Given the description of an element on the screen output the (x, y) to click on. 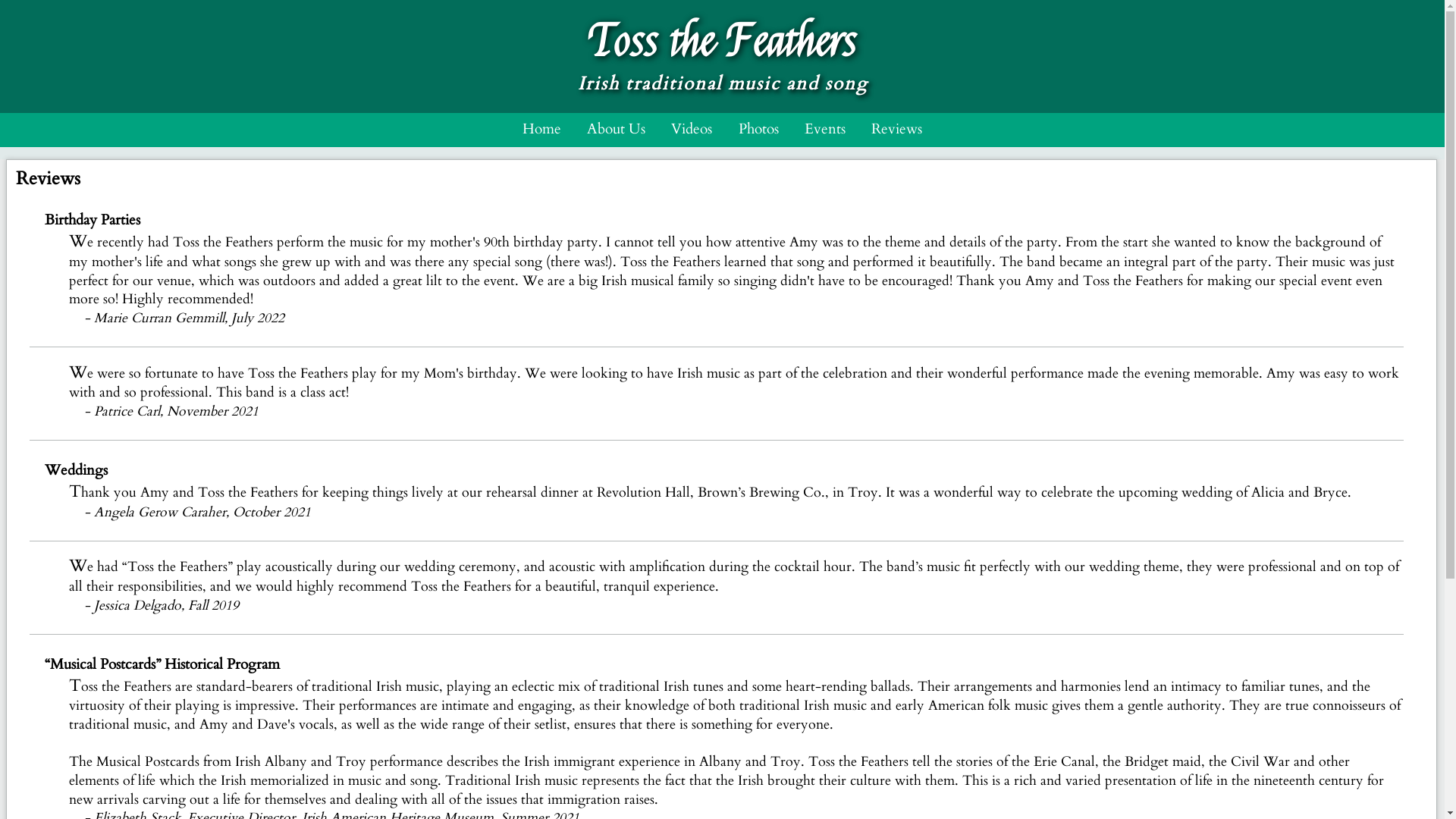
Videos Element type: text (691, 128)
Photos Element type: text (758, 128)
Events Element type: text (824, 128)
Home Element type: text (541, 128)
Reviews Element type: text (896, 128)
About Us Element type: text (615, 128)
